Given the description of an element on the screen output the (x, y) to click on. 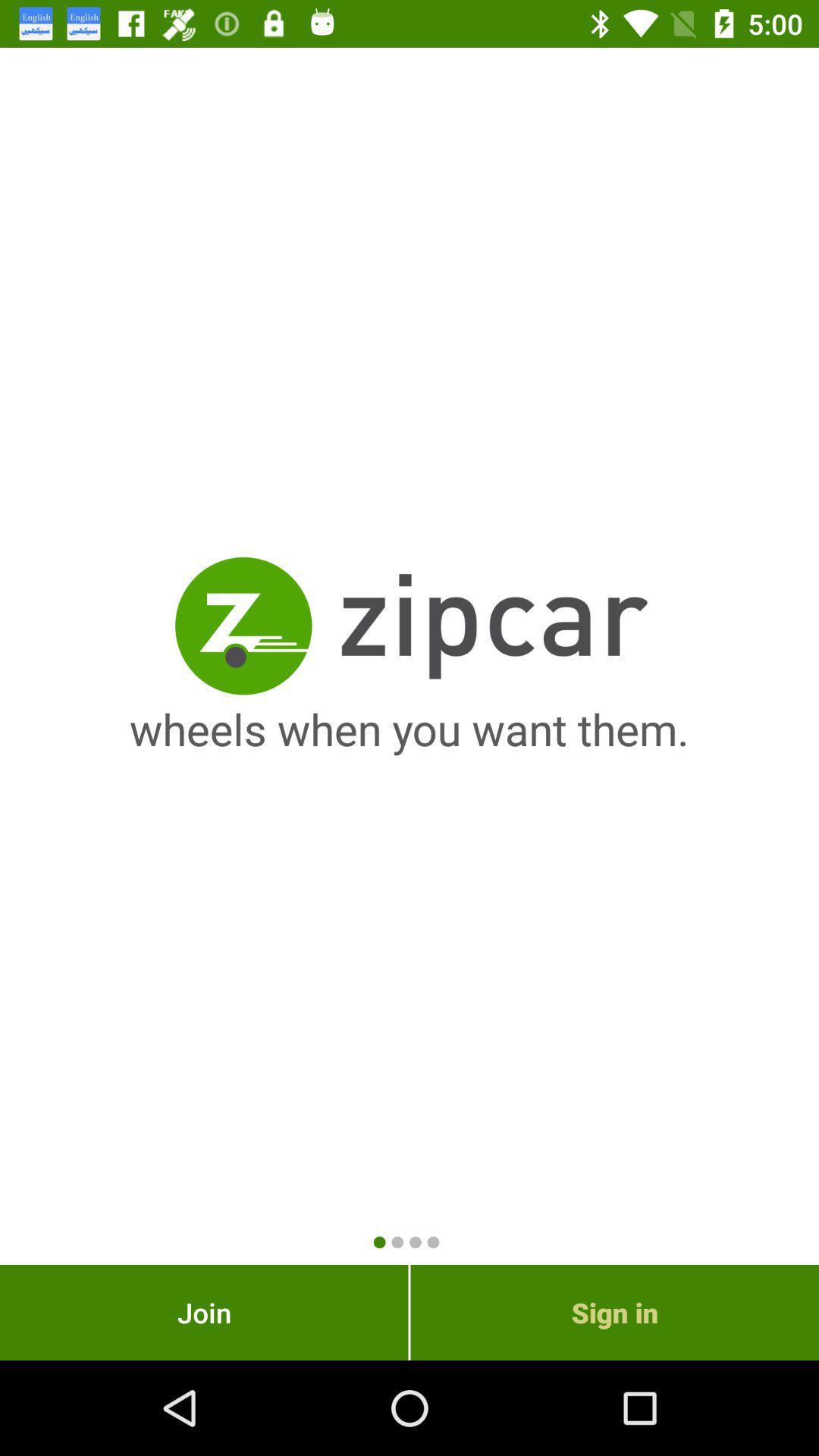
tap item to the right of join icon (614, 1312)
